Given the description of an element on the screen output the (x, y) to click on. 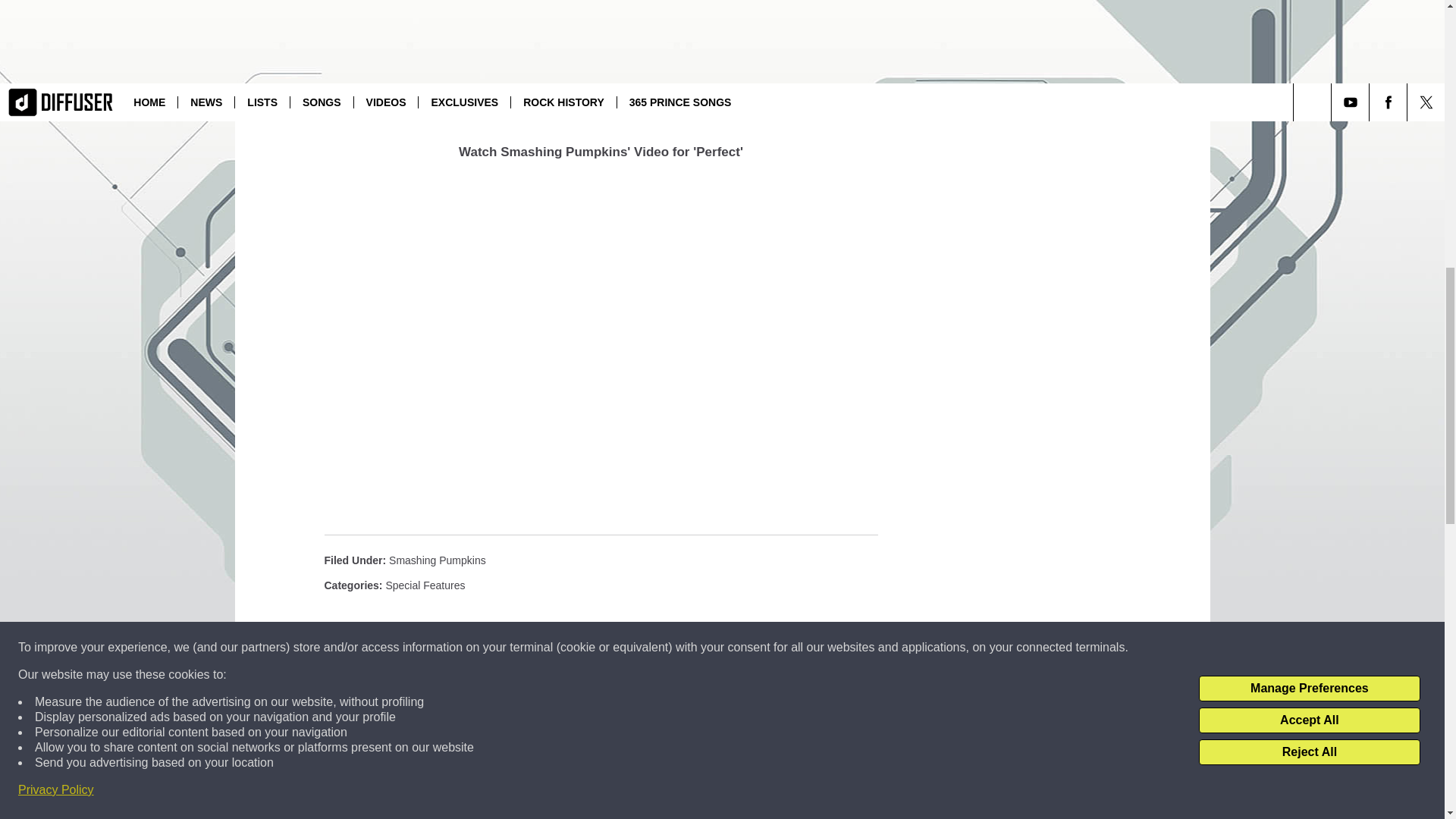
Special Features (424, 585)
NEXT ARTIST (601, 103)
Smashing Pumpkins (437, 560)
